Given the description of an element on the screen output the (x, y) to click on. 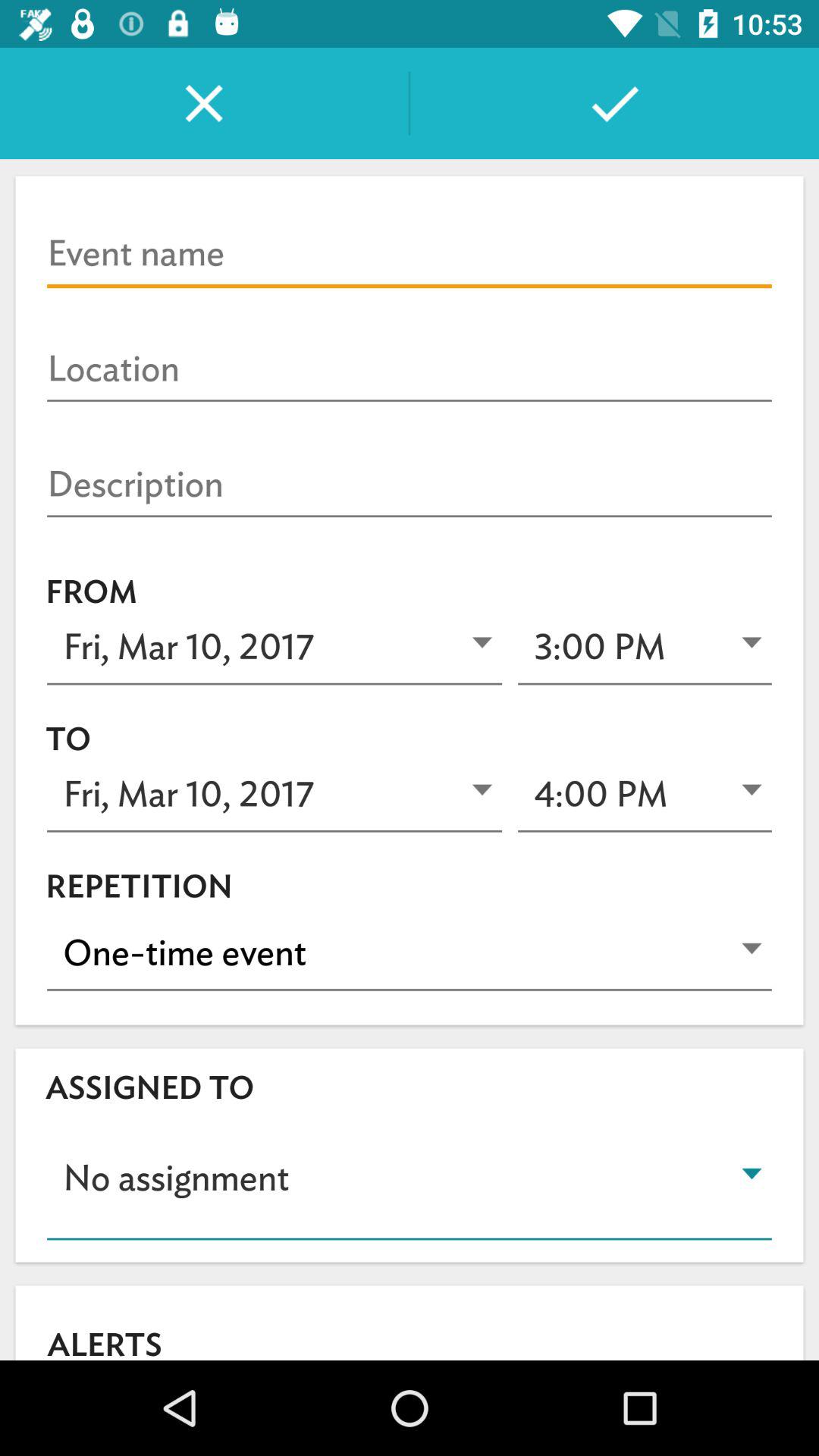
press icon below the repetition item (409, 953)
